Given the description of an element on the screen output the (x, y) to click on. 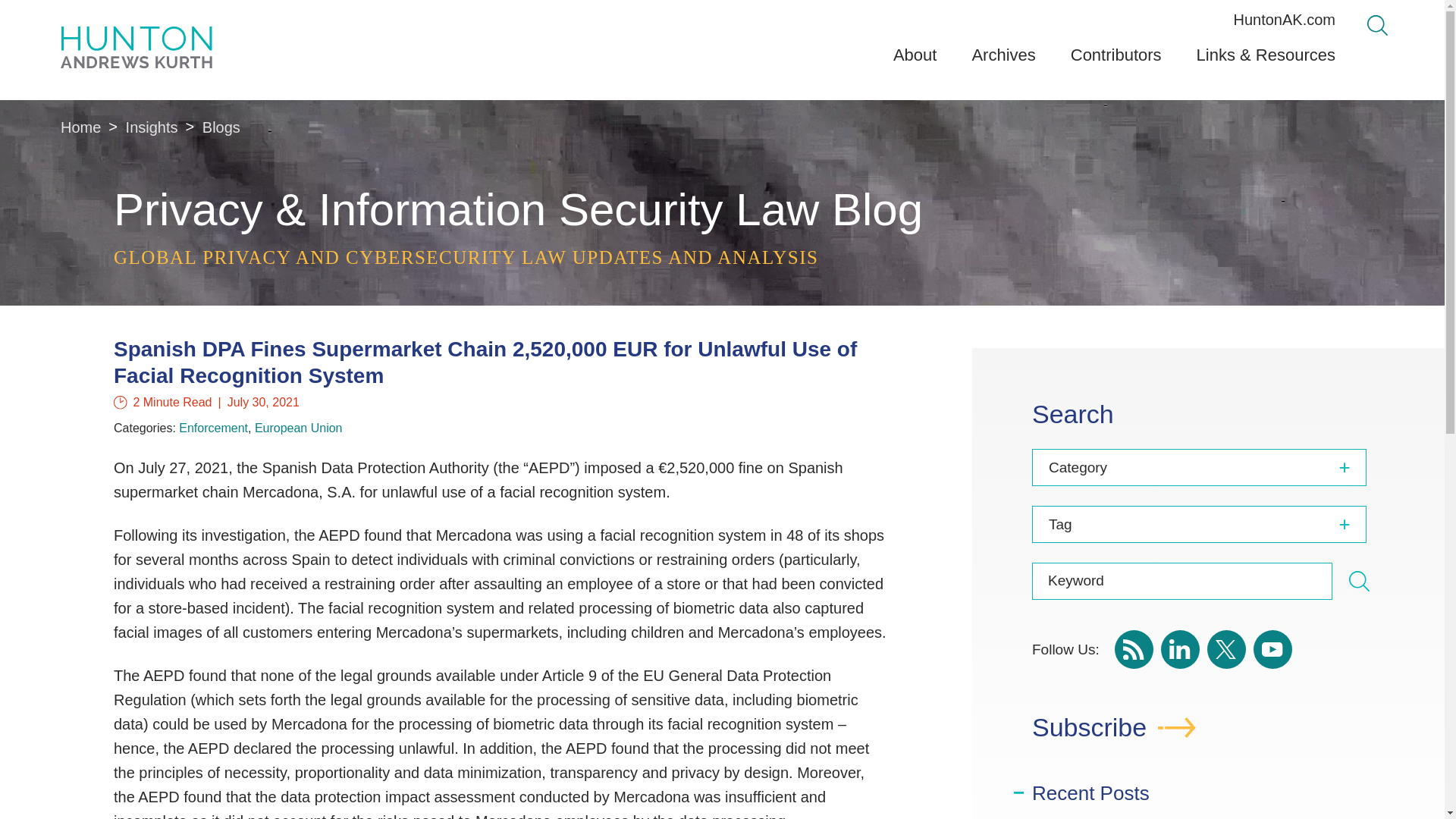
Main Menu (680, 17)
Home (80, 126)
Contributors (1115, 60)
European Union (298, 427)
Blogs (221, 126)
Subscribe (1208, 734)
Enforcement (213, 427)
Menu (680, 17)
Youtube (1272, 649)
Search (1359, 580)
